Given the description of an element on the screen output the (x, y) to click on. 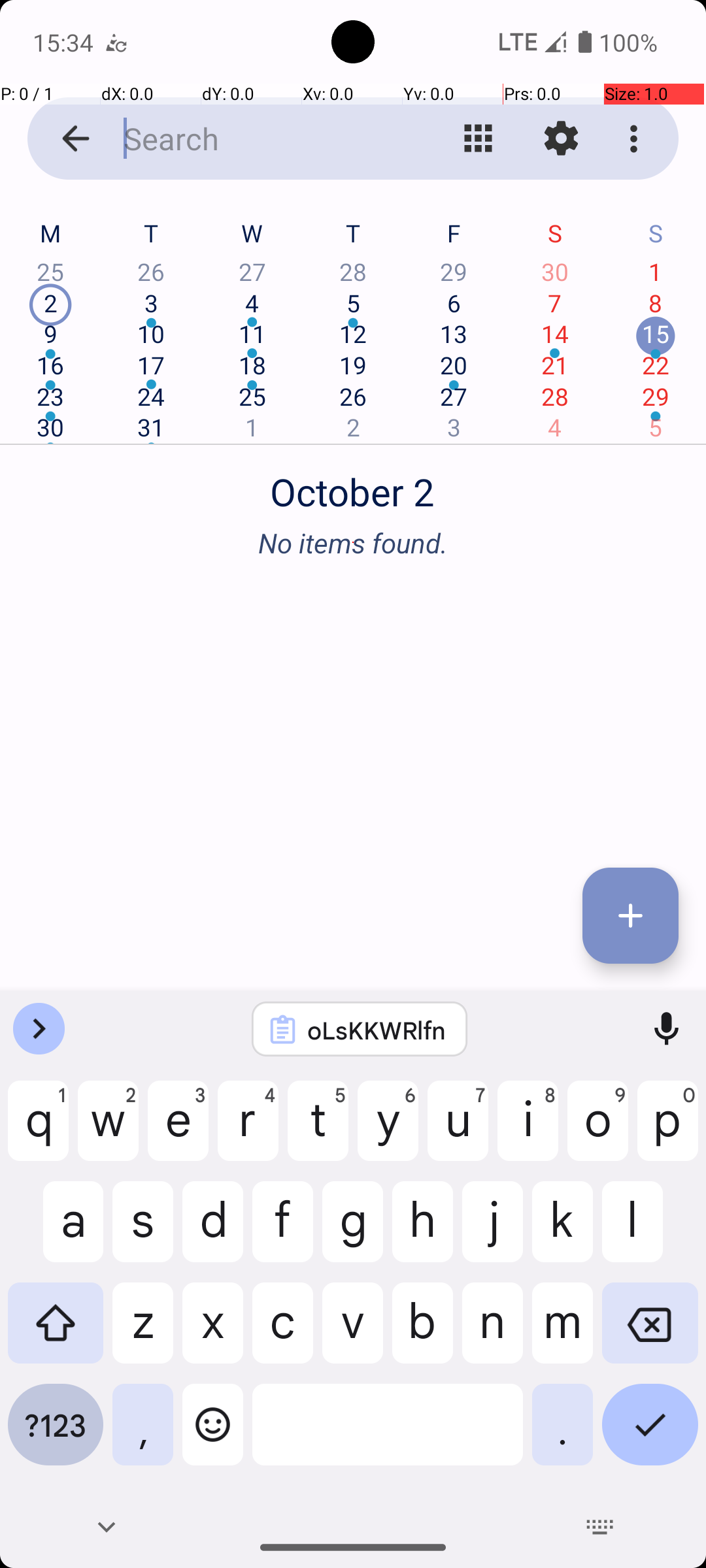
October 2 Element type: android.widget.TextView (352, 483)
oLsKKWRlfn Element type: android.widget.TextView (376, 1029)
